Given the description of an element on the screen output the (x, y) to click on. 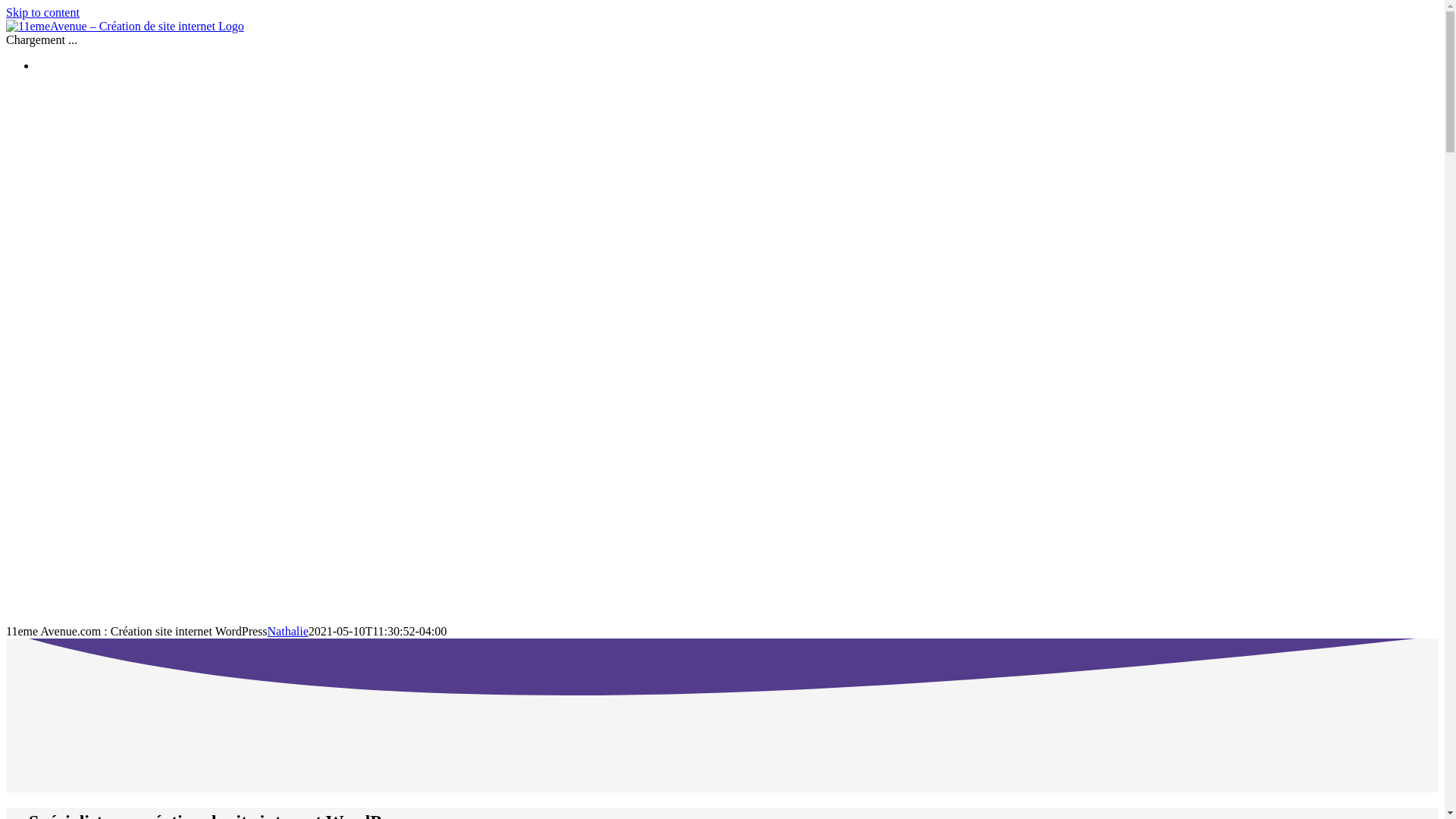
Skip to content Element type: text (42, 12)
Nathalie Element type: text (287, 630)
